Given the description of an element on the screen output the (x, y) to click on. 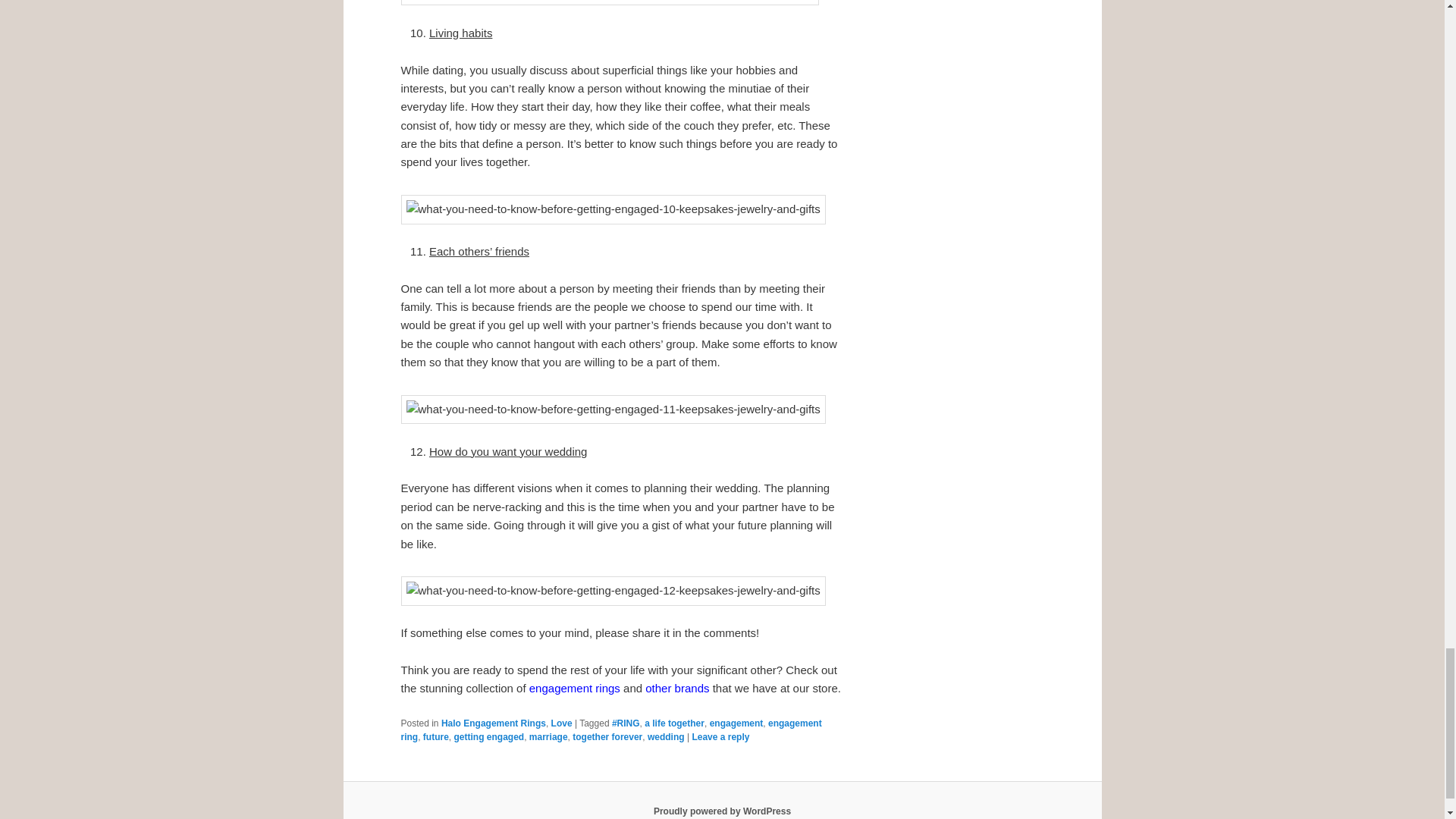
engagement rings (574, 687)
Halo Engagement Rings (493, 723)
marriage (548, 737)
together forever (607, 737)
engagement (736, 723)
Semantic Personal Publishing Platform (721, 810)
Love (561, 723)
future (435, 737)
other brands (677, 687)
a life together (674, 723)
Leave a reply (720, 737)
getting engaged (489, 737)
engagement ring (610, 730)
wedding (665, 737)
